Given the description of an element on the screen output the (x, y) to click on. 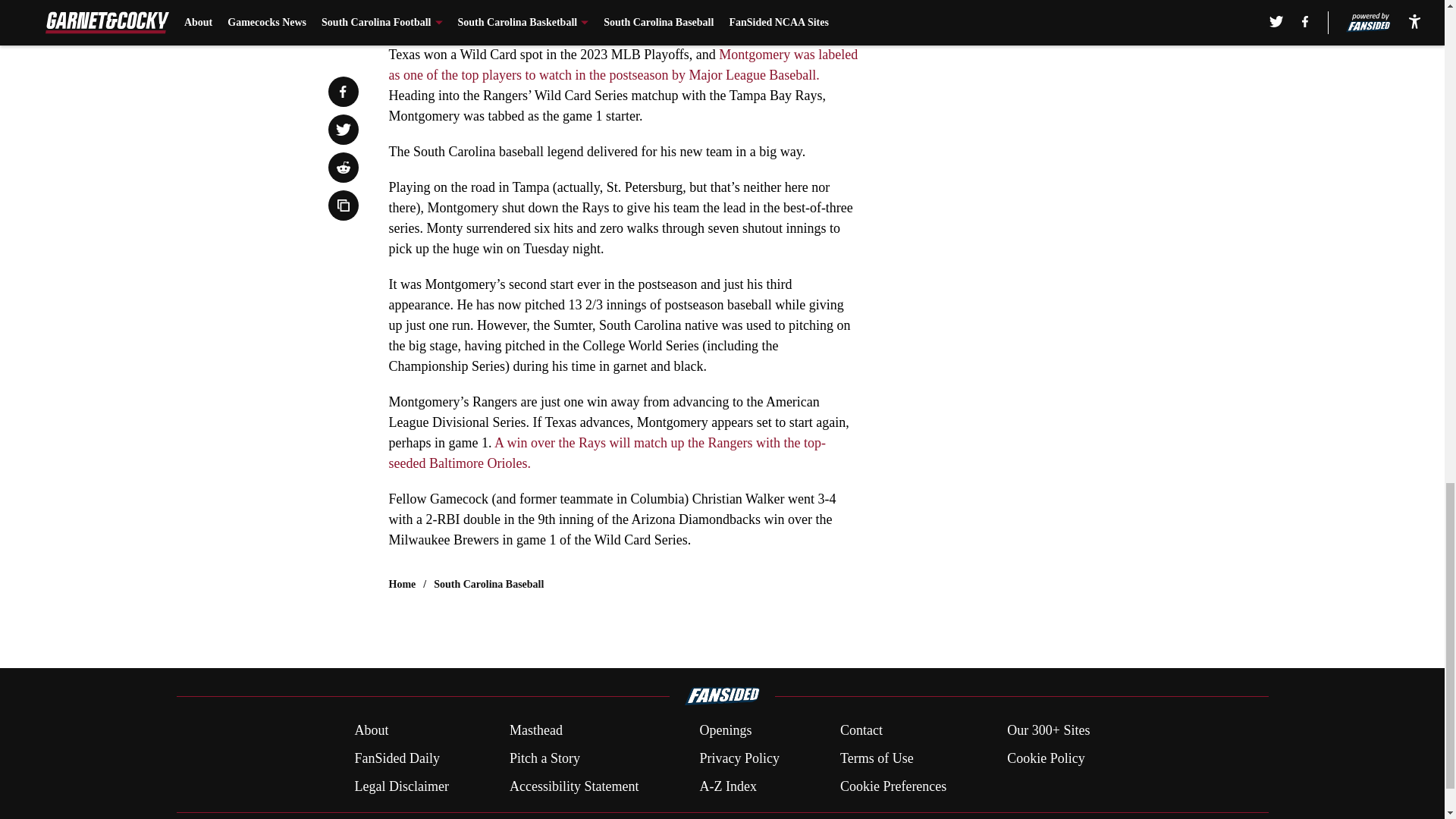
Terms of Use (877, 758)
Pitch a Story (544, 758)
Privacy Policy (738, 758)
Accessibility Statement (574, 786)
Home (401, 584)
A-Z Index (726, 786)
Openings (724, 730)
Masthead (535, 730)
About (370, 730)
Cookie Policy (1045, 758)
Contact (861, 730)
South Carolina Baseball (488, 584)
FanSided Daily (396, 758)
